Given the description of an element on the screen output the (x, y) to click on. 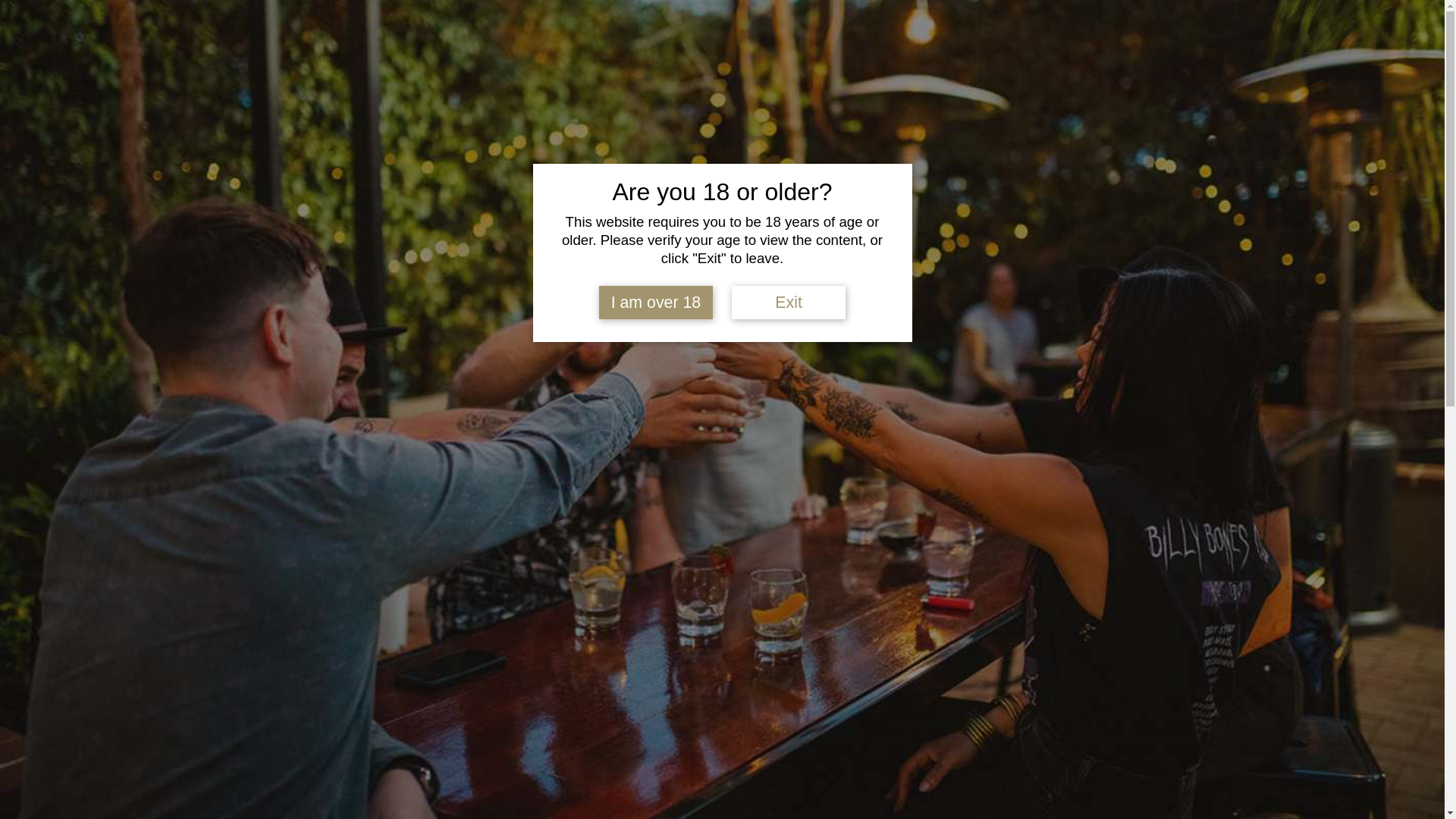
LOYALTY Element type: text (1079, 108)
WHOLESALE Element type: text (223, 40)
Exit Element type: text (788, 302)
SUBSCRIBE Element type: text (42, 40)
EXPERIENCE Element type: text (970, 108)
BUYING Element type: text (488, 108)
FAQ Element type: text (97, 40)
CONTACT Element type: text (149, 40)
0 Element type: text (1417, 43)
I am over 18 Element type: text (655, 302)
Login Element type: text (1369, 43)
DISTILLERY Element type: text (379, 108)
